Given the description of an element on the screen output the (x, y) to click on. 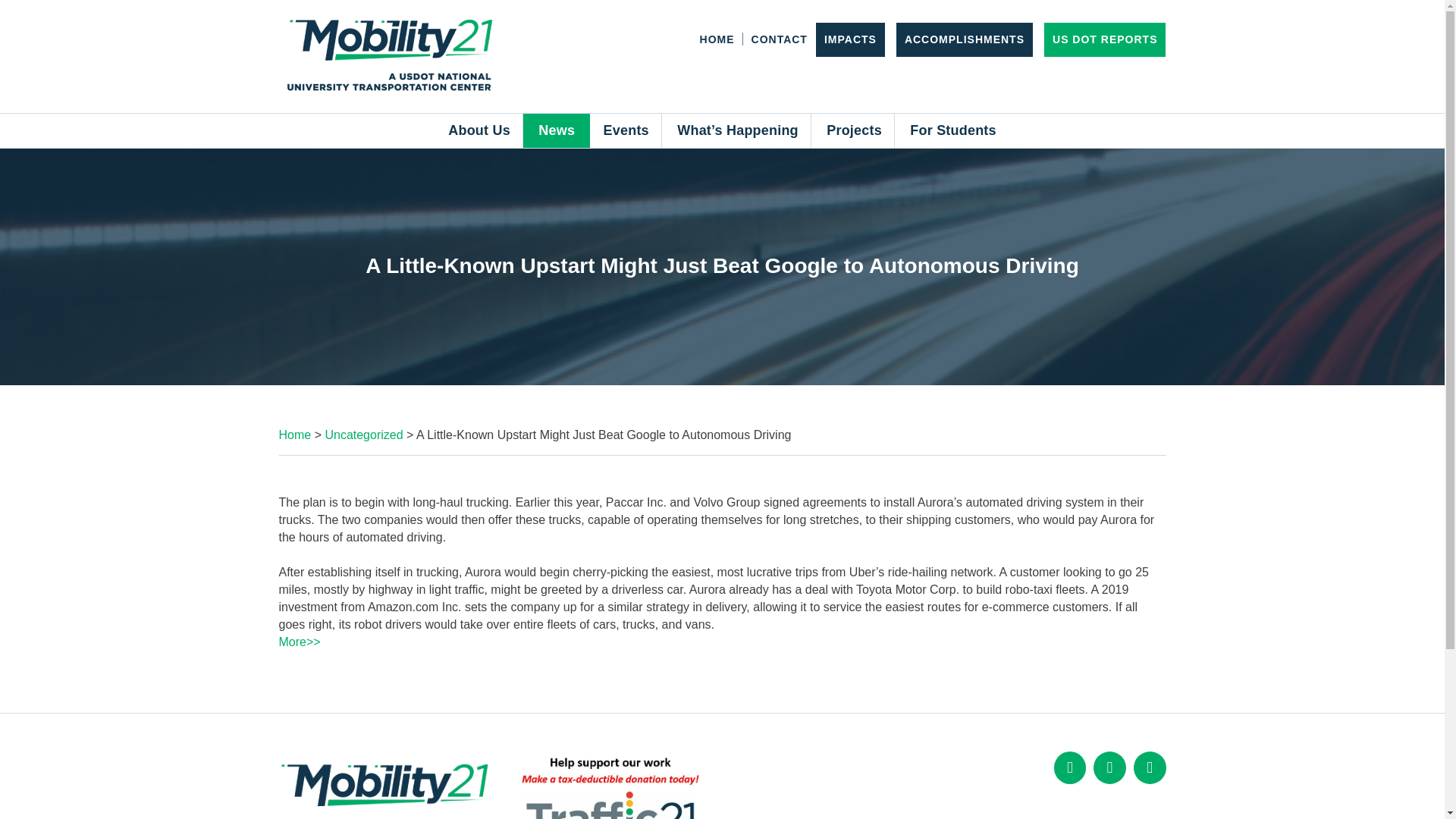
US DOT REPORTS (1104, 39)
Go to M21. (295, 434)
ACCOMPLISHMENTS (964, 39)
CONTACT (779, 39)
IMPACTS (850, 39)
About Us (478, 130)
HOME (717, 39)
Go to the Uncategorized category archives. (363, 434)
Twitter (1109, 767)
YouTube (1150, 767)
Facebook (1070, 767)
